Given the description of an element on the screen output the (x, y) to click on. 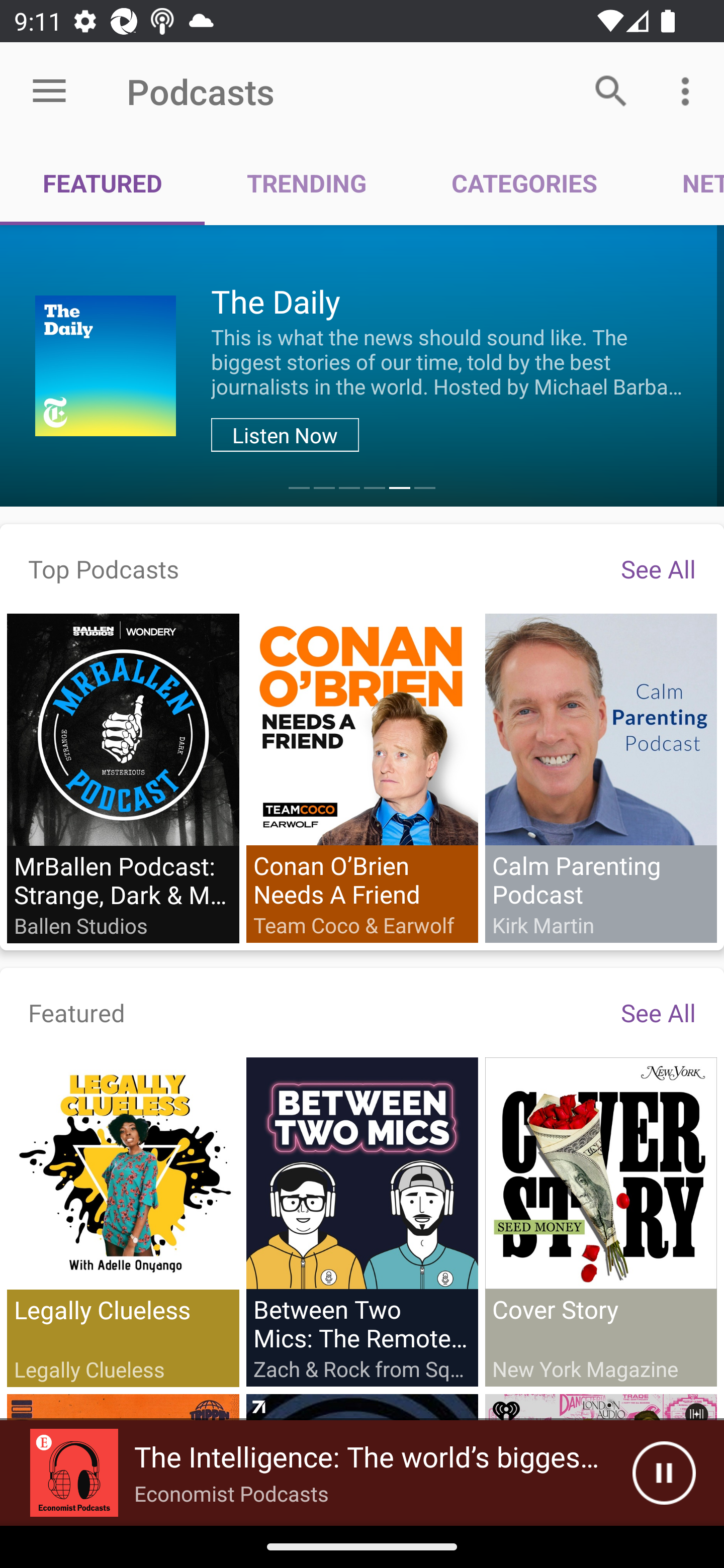
Open menu (49, 91)
Search (611, 90)
More options (688, 90)
FEATURED (102, 183)
TRENDING (306, 183)
CATEGORIES (524, 183)
Top Podcasts (103, 567)
See All (658, 567)
Conan O’Brien Needs A Friend Team Coco & Earwolf (361, 777)
Calm Parenting Podcast Kirk Martin (600, 777)
Featured (76, 1011)
See All (658, 1011)
Legally Clueless (123, 1221)
Cover Story New York Magazine (600, 1221)
Pause (663, 1472)
